Given the description of an element on the screen output the (x, y) to click on. 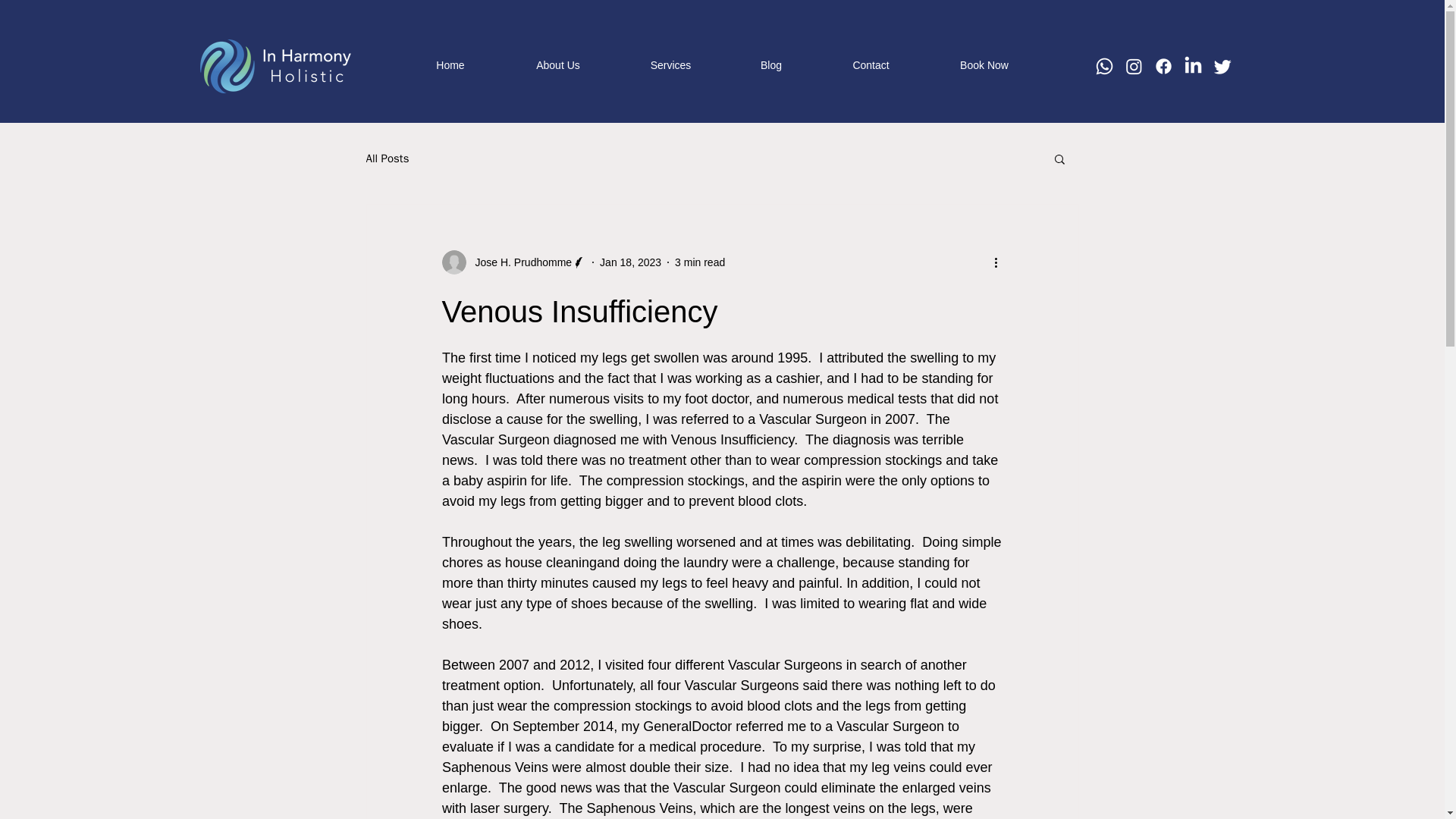
Jose H. Prudhomme (513, 262)
3 min read (700, 262)
All Posts (387, 158)
About Us (557, 64)
Blog (770, 64)
Contact (870, 64)
Home (449, 64)
Jose H. Prudhomme (518, 262)
Jan 18, 2023 (630, 262)
Services (670, 64)
Book Now (983, 64)
